Given the description of an element on the screen output the (x, y) to click on. 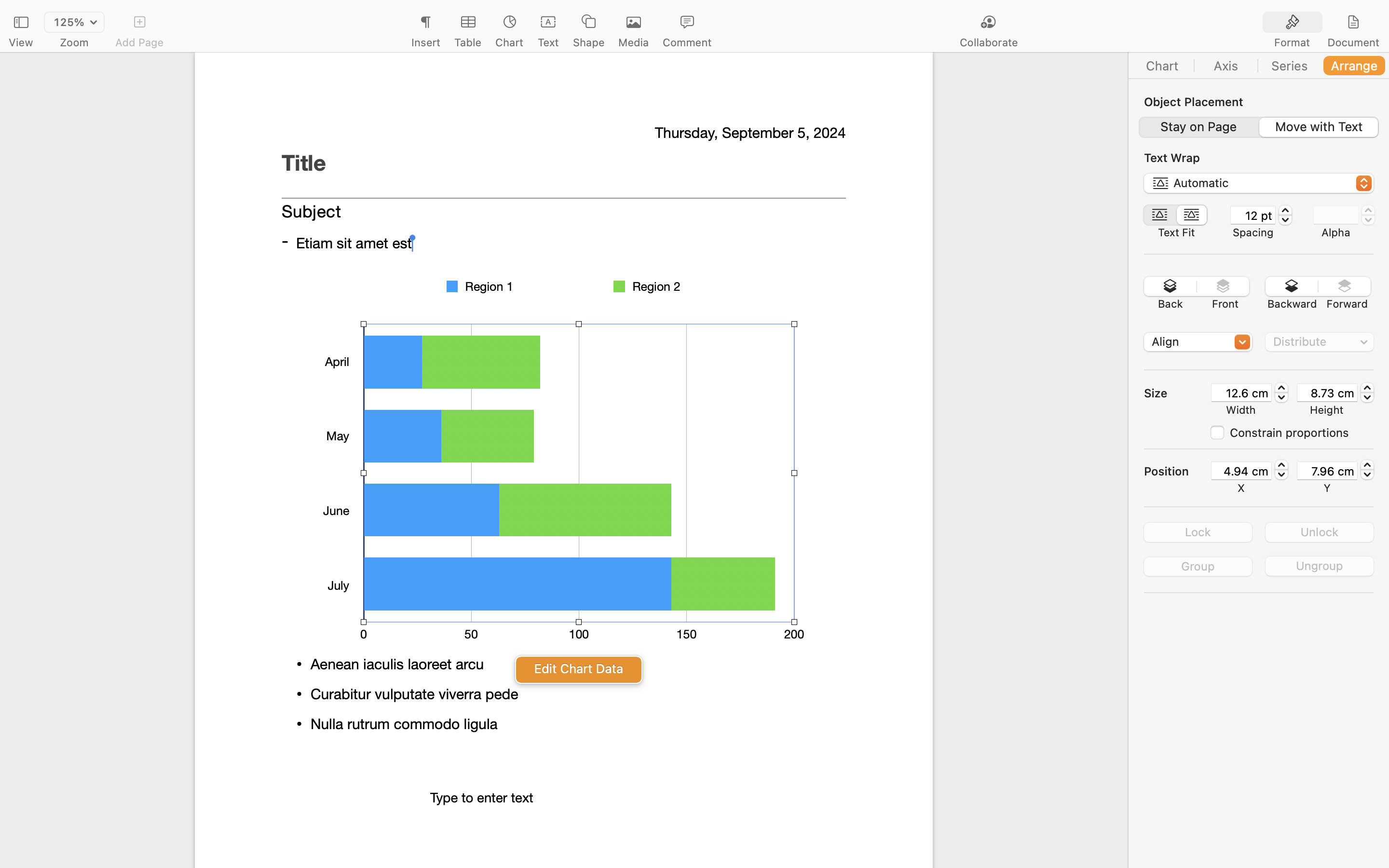
8.73 cm Element type: AXTextField (1327, 392)
357.1550335693359 Element type: AXIncrementor (1281, 392)
Text Wrap Element type: AXStaticText (1171, 157)
Zoom Element type: AXStaticText (73, 42)
